Given the description of an element on the screen output the (x, y) to click on. 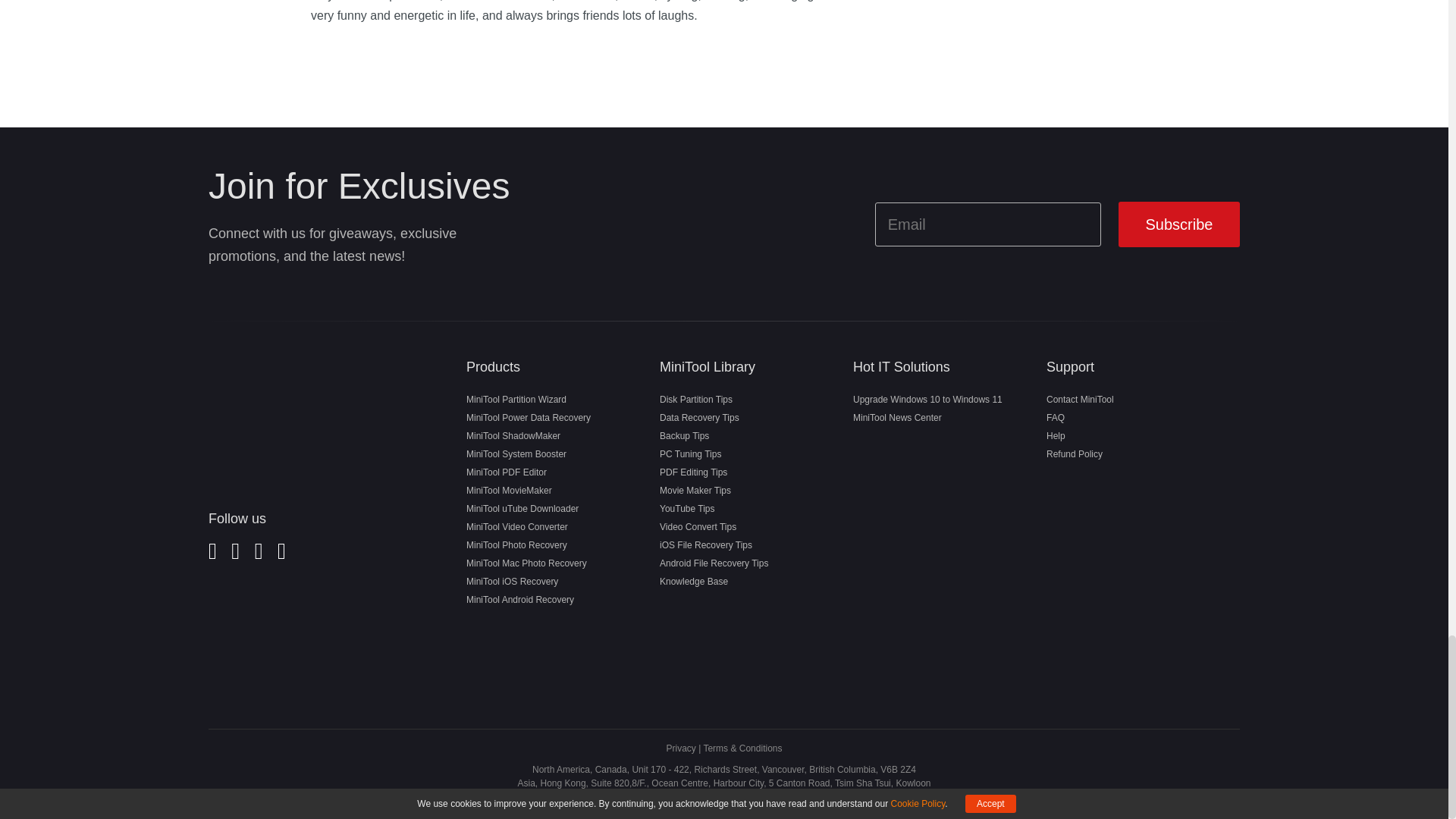
Customer reviews powered by Trustpilot (299, 634)
Subscribe (1179, 224)
